Given the description of an element on the screen output the (x, y) to click on. 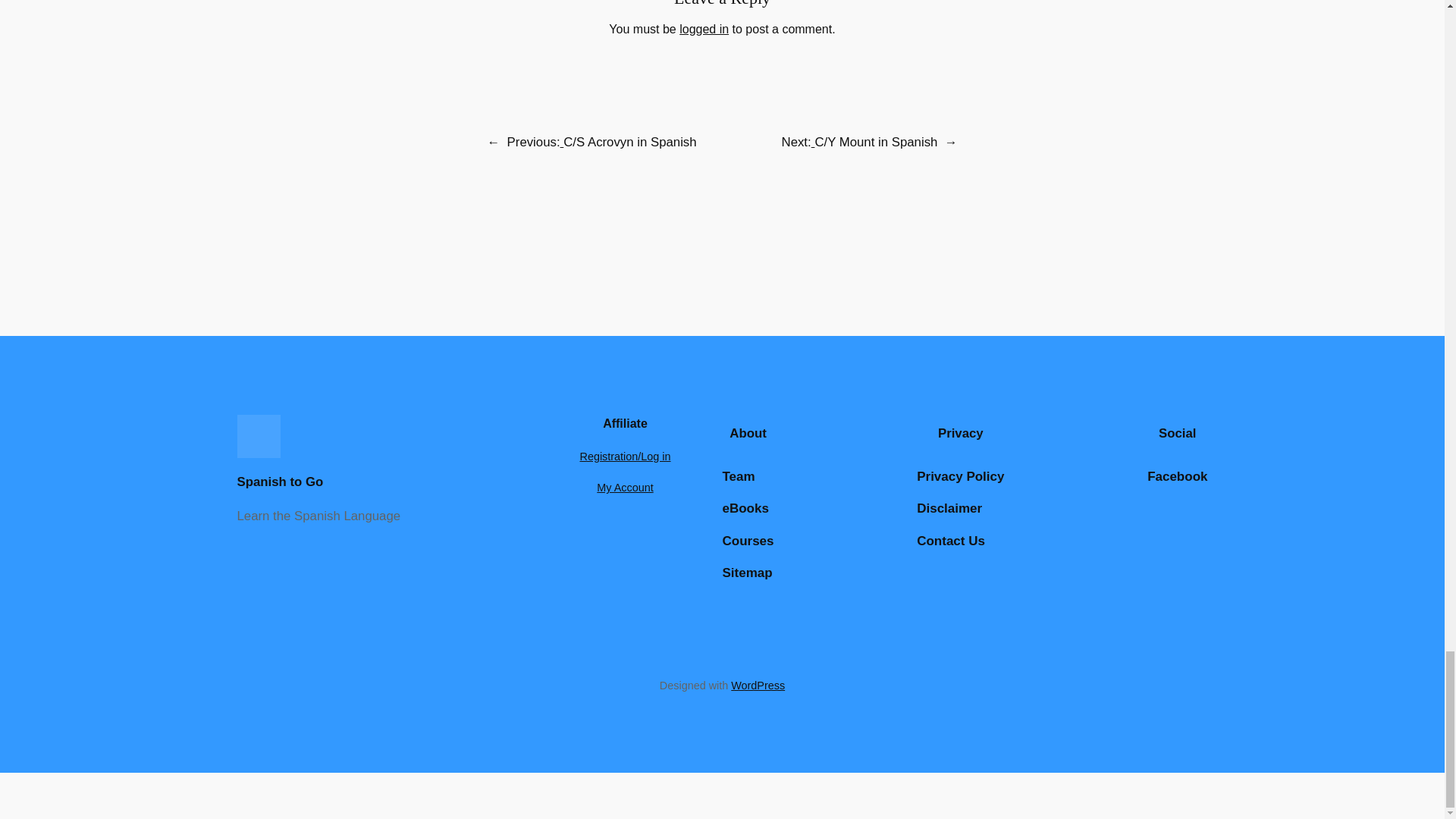
My Account (624, 487)
Courses (747, 541)
Spanish to Go (279, 481)
Team (738, 476)
eBooks (745, 508)
logged in (704, 29)
